Given the description of an element on the screen output the (x, y) to click on. 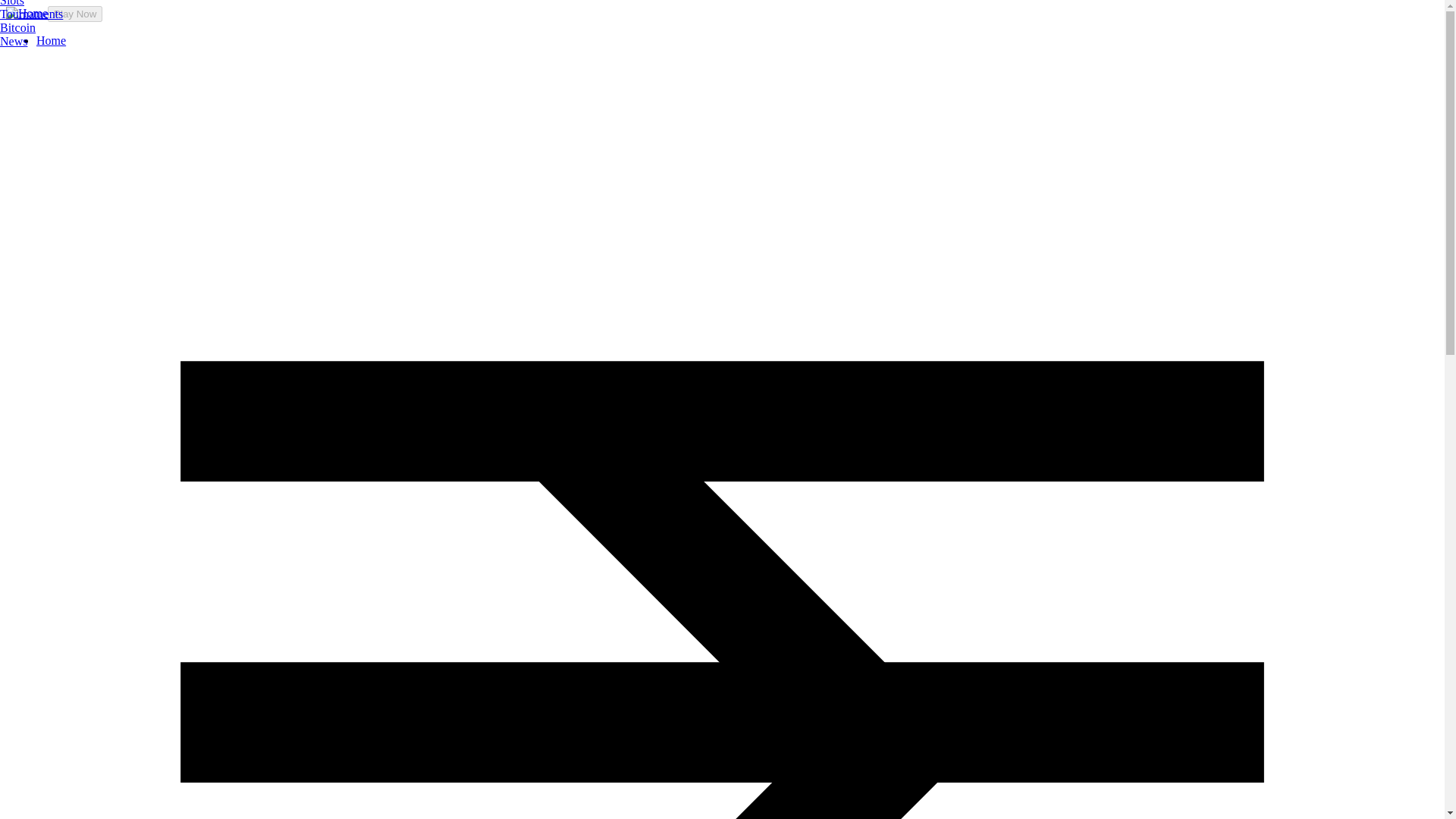
Home (50, 40)
Play Now (74, 13)
